Given the description of an element on the screen output the (x, y) to click on. 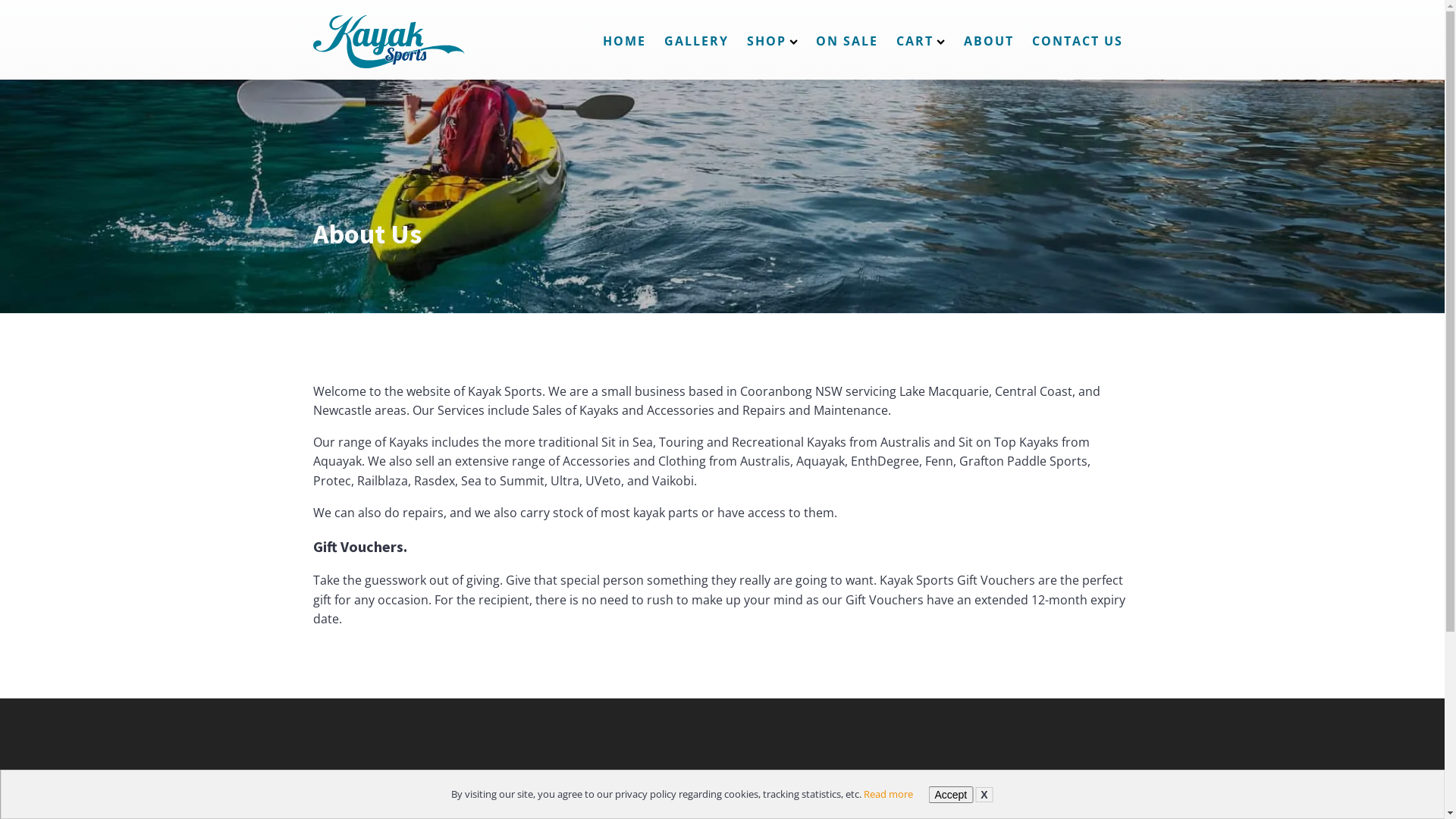
X Element type: text (983, 794)
SHOP Element type: text (771, 41)
GALLERY Element type: text (696, 41)
ON SALE Element type: text (846, 41)
Accept Element type: text (950, 794)
HOME Element type: text (624, 41)
ABOUT Element type: text (987, 41)
CART Element type: text (920, 41)
CONTACT US Element type: text (1076, 41)
Read more Element type: text (888, 793)
